Given the description of an element on the screen output the (x, y) to click on. 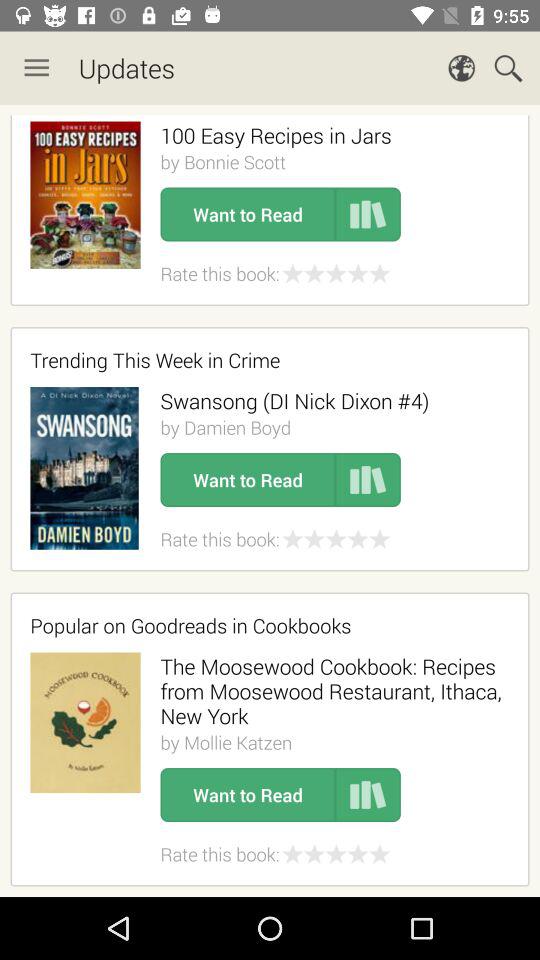
display book details (367, 214)
